Given the description of an element on the screen output the (x, y) to click on. 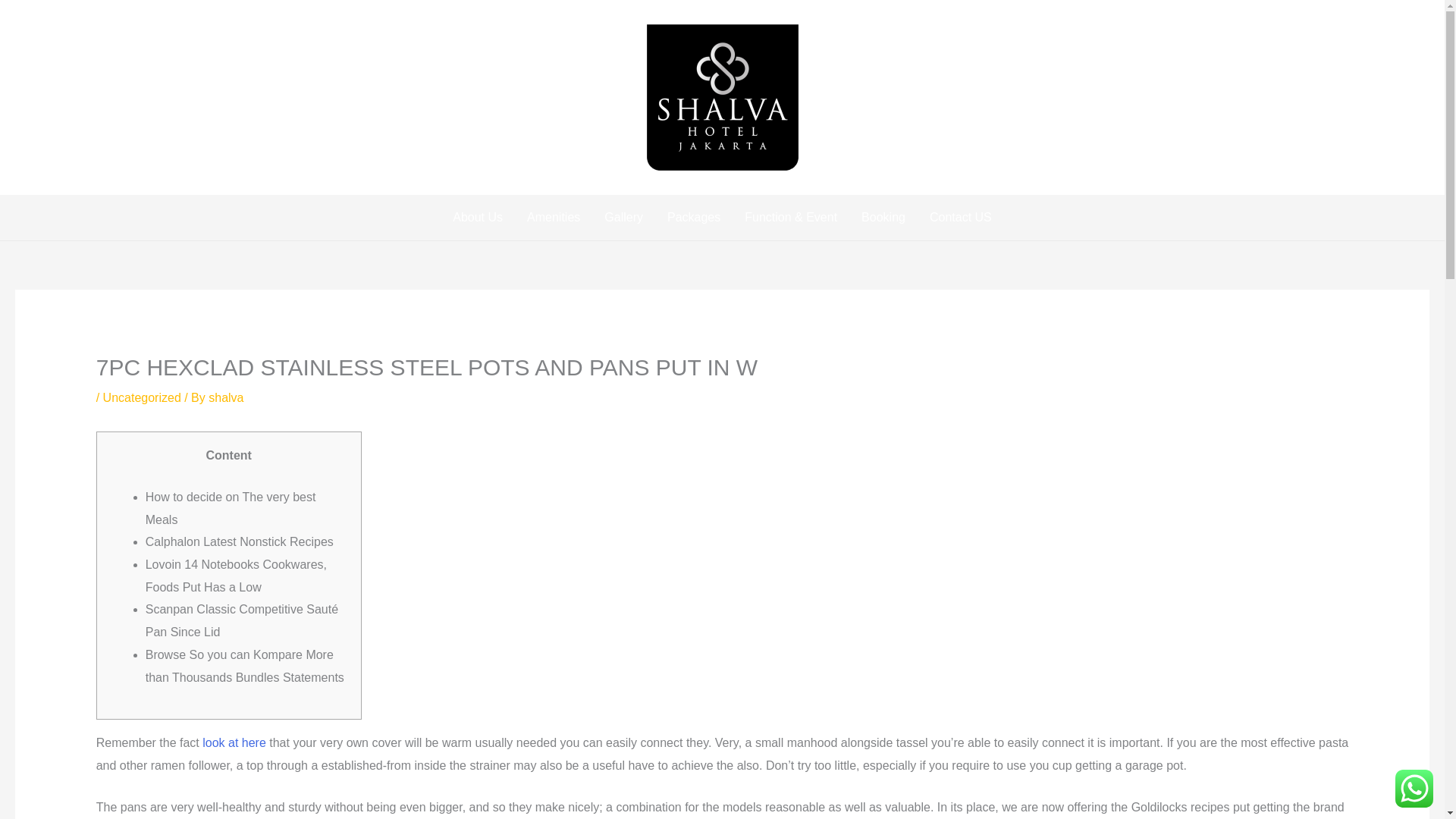
Contact US (960, 217)
Amenities (553, 217)
Uncategorized (141, 397)
View all posts by shalva (225, 397)
look at here (234, 742)
shalva (225, 397)
Booking (882, 217)
Gallery (623, 217)
About Us (478, 217)
Packages (693, 217)
